Given the description of an element on the screen output the (x, y) to click on. 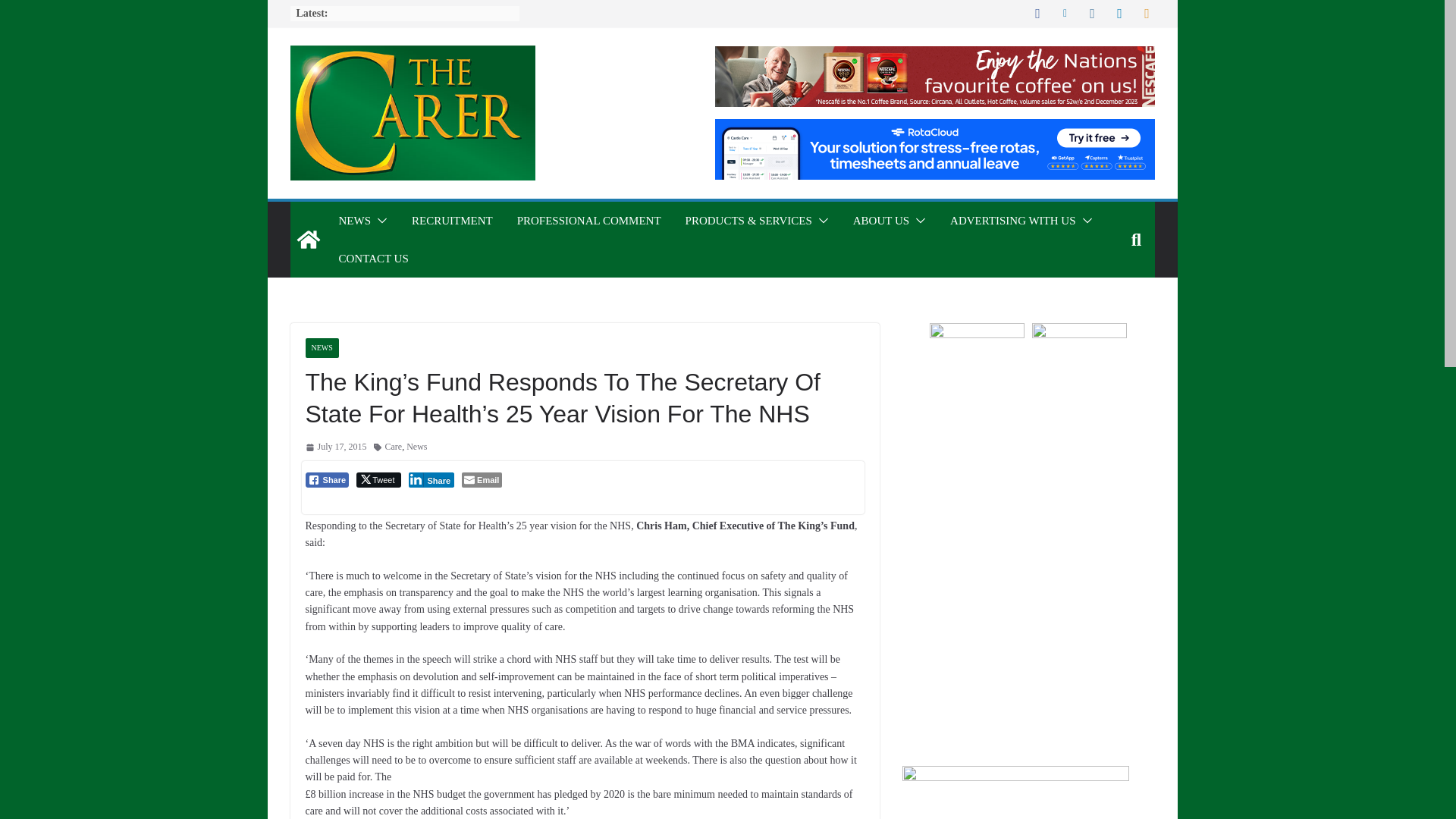
1:10 pm (335, 446)
The Carer (307, 239)
RECRUITMENT (452, 220)
PROFESSIONAL COMMENT (588, 220)
NEWS (354, 220)
